Given the description of an element on the screen output the (x, y) to click on. 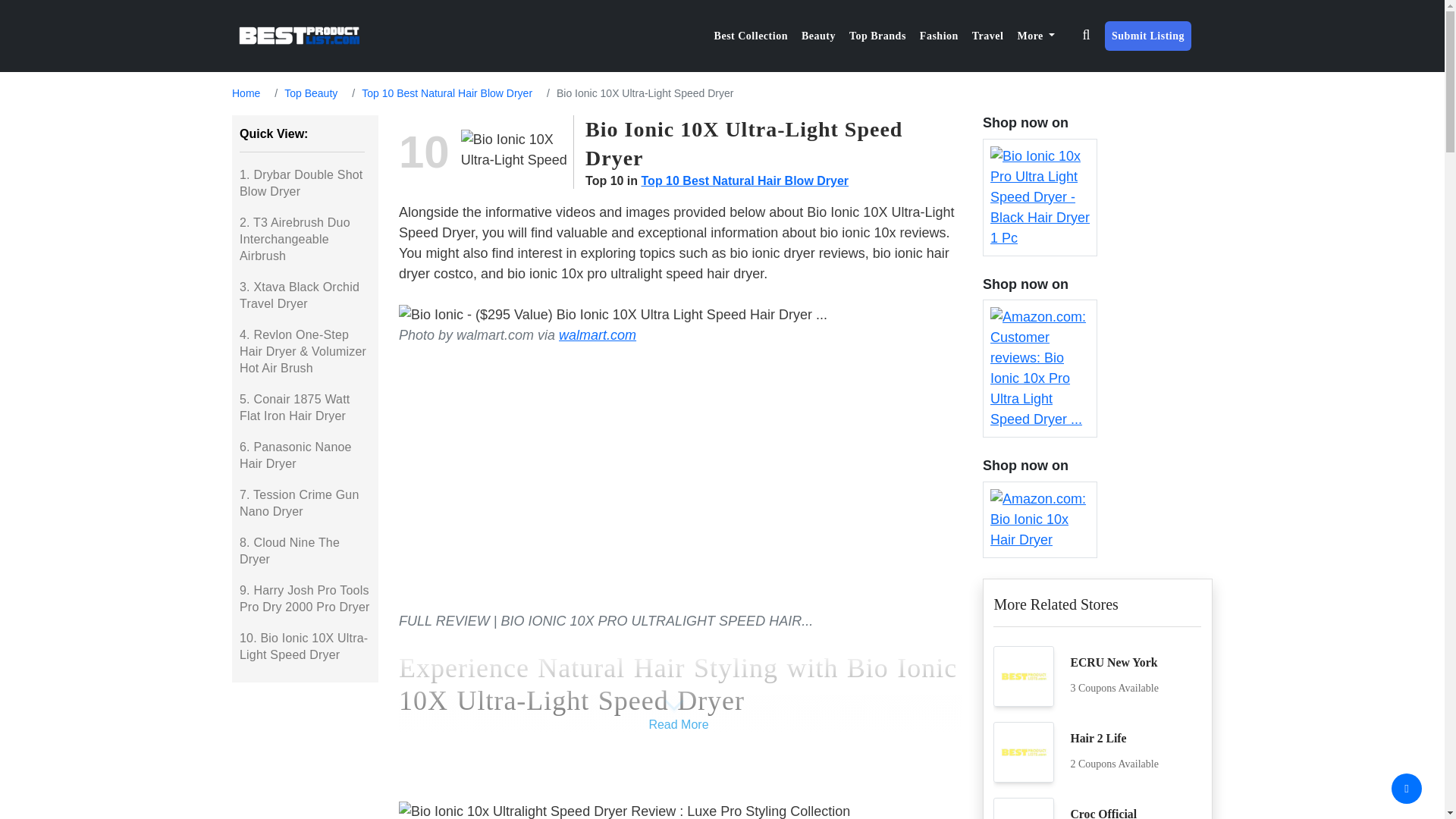
More (1035, 35)
Best Collection (750, 35)
5. Conair 1875 Watt Flat Iron Hair Dryer (305, 408)
Top 10 Best Natural Hair Blow Dryer (446, 92)
8. Cloud Nine The Dryer (305, 551)
10. Bio Ionic 10X Ultra-Light Speed Dryer (305, 646)
walmart.com (597, 335)
Beauty (818, 35)
1. Drybar Double Shot Blow Dryer (305, 183)
Fashion (938, 35)
Bio Ionic 10X Ultra-Light Speed Dryer (517, 152)
Home (245, 92)
9. Harry Josh Pro Tools Pro Dry 2000 Pro Dryer (305, 598)
6. Panasonic Nanoe Hair Dryer (305, 455)
